Given the description of an element on the screen output the (x, y) to click on. 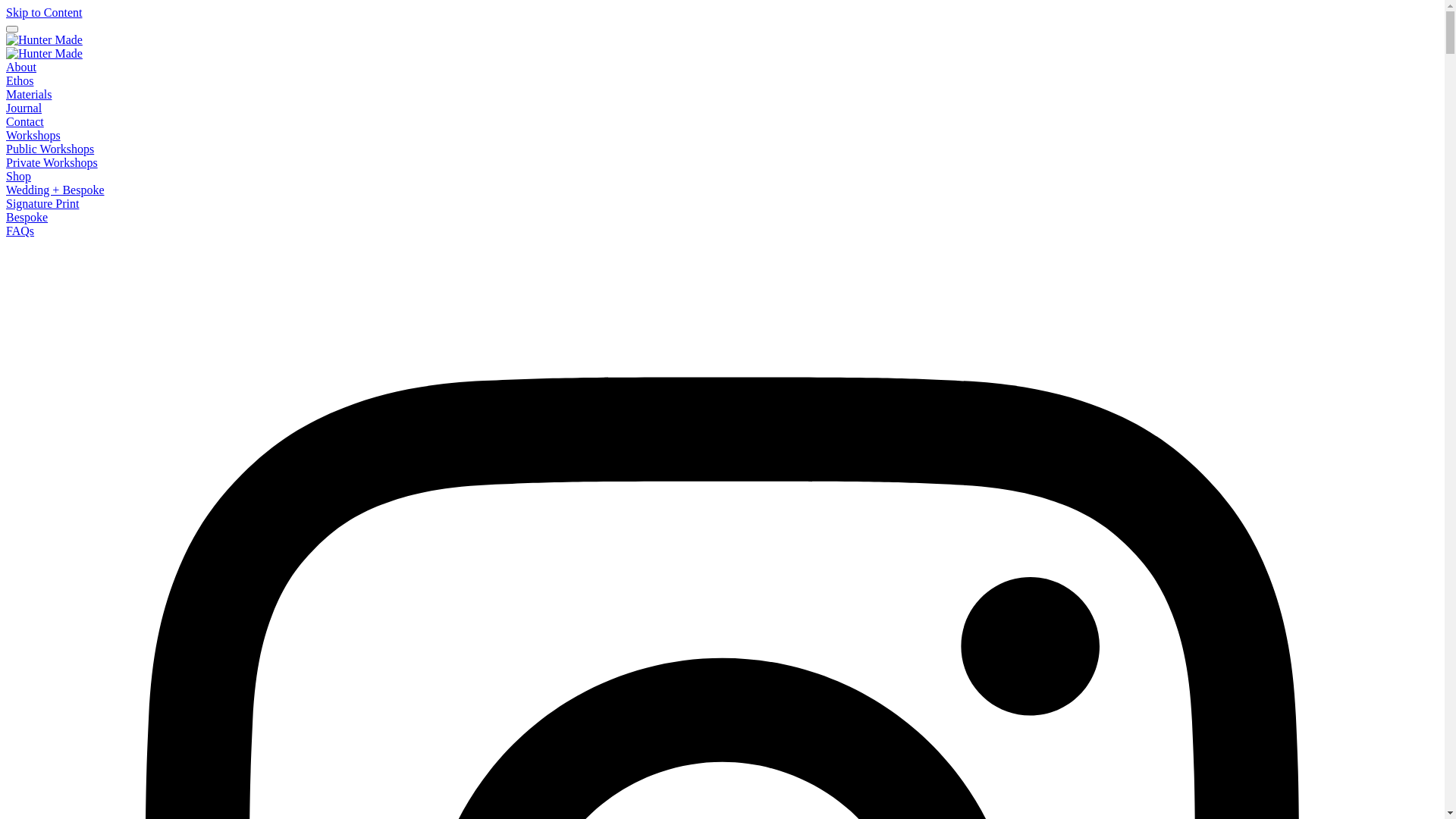
Workshops Element type: text (33, 134)
Shop Element type: text (18, 175)
Wedding + Bespoke Element type: text (55, 189)
Skip to Content Element type: text (43, 12)
Bespoke Element type: text (26, 216)
Materials Element type: text (28, 93)
FAQs Element type: text (20, 230)
Contact Element type: text (24, 121)
Signature Print Element type: text (42, 203)
Journal Element type: text (23, 107)
Ethos Element type: text (19, 80)
Public Workshops Element type: text (50, 148)
About Element type: text (21, 66)
Private Workshops Element type: text (51, 162)
